Given the description of an element on the screen output the (x, y) to click on. 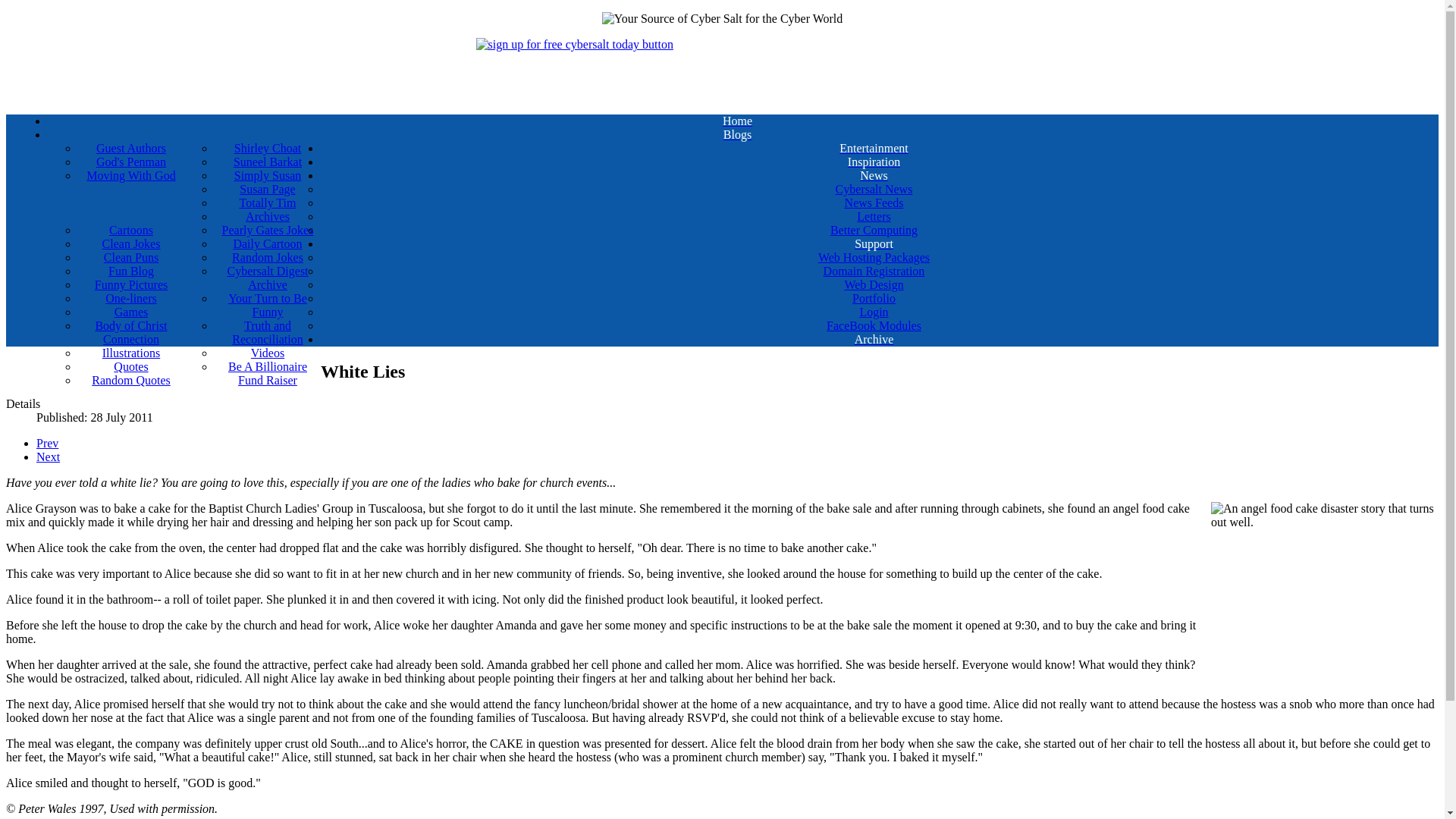
Clean Puns (131, 257)
Inspiration (873, 161)
Fun Blog (131, 271)
Be A Billionaire Fund Raiser (267, 373)
News (873, 175)
Archives (267, 216)
Moving With God (131, 175)
Simply Susan (267, 175)
